Given the description of an element on the screen output the (x, y) to click on. 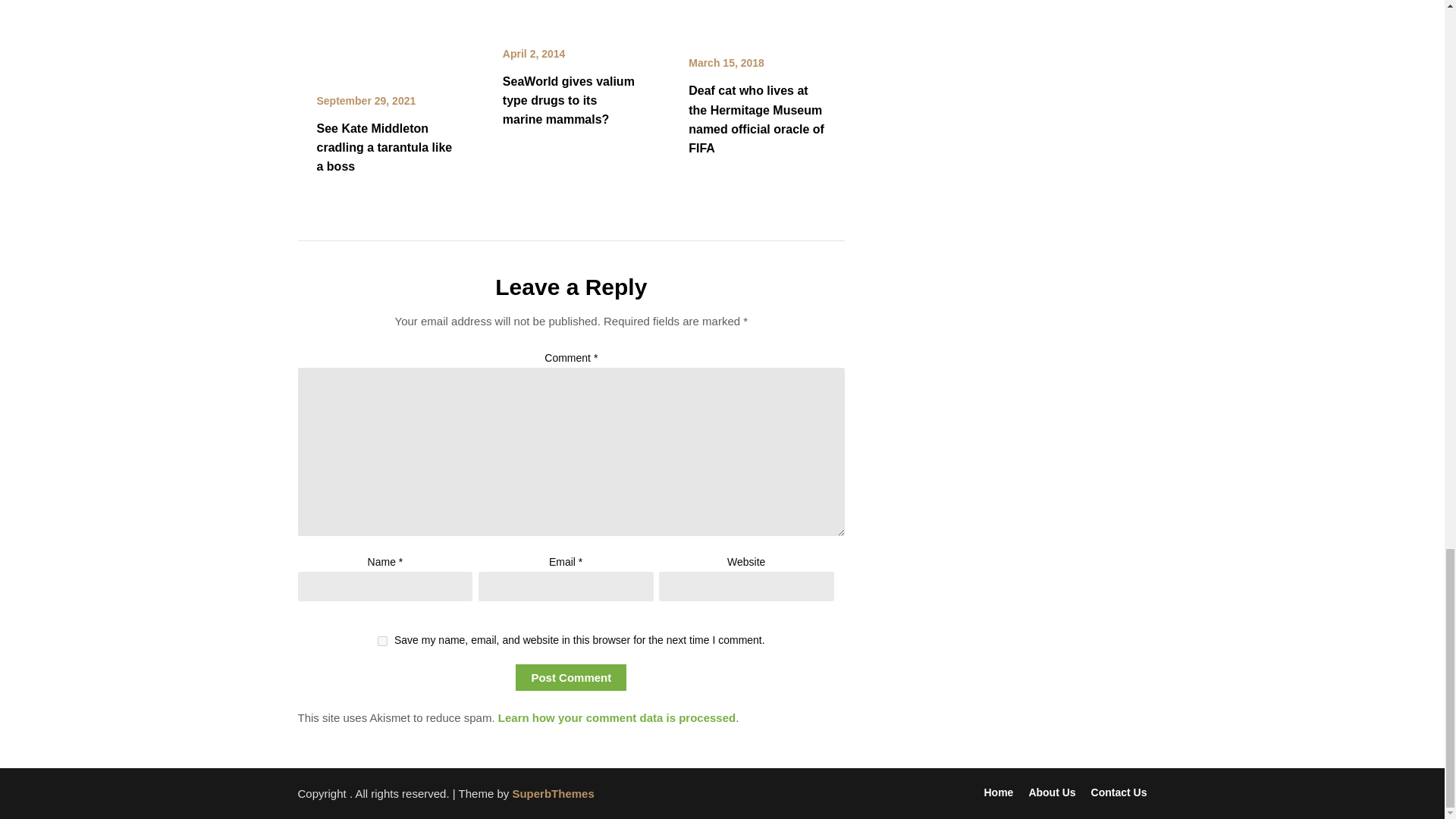
See Kate Middleton cradling a tarantula like a boss (384, 5)
SeaWorld gives valium type drugs to its marine mammals? (568, 100)
Post Comment (570, 677)
See Kate Middleton cradling a tarantula like a boss (384, 147)
yes (382, 641)
Learn how your comment data is processed (616, 717)
Post Comment (570, 677)
